Given the description of an element on the screen output the (x, y) to click on. 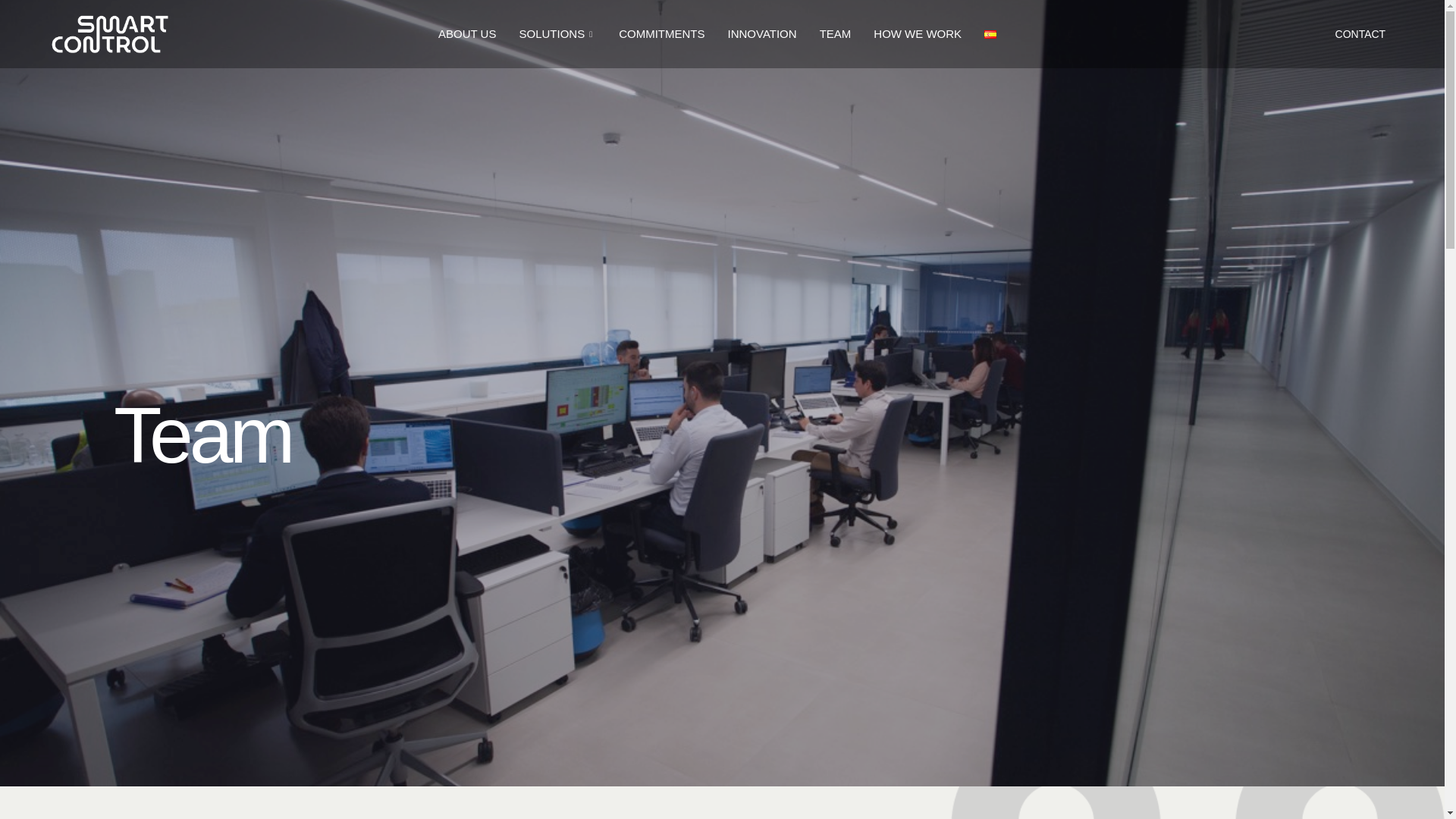
TEAM (835, 33)
INNOVATION (762, 33)
SOLUTIONS (556, 33)
ABOUT US (466, 33)
CONTACT (1360, 33)
HOW WE WORK (916, 33)
COMMITMENTS (661, 33)
